Given the description of an element on the screen output the (x, y) to click on. 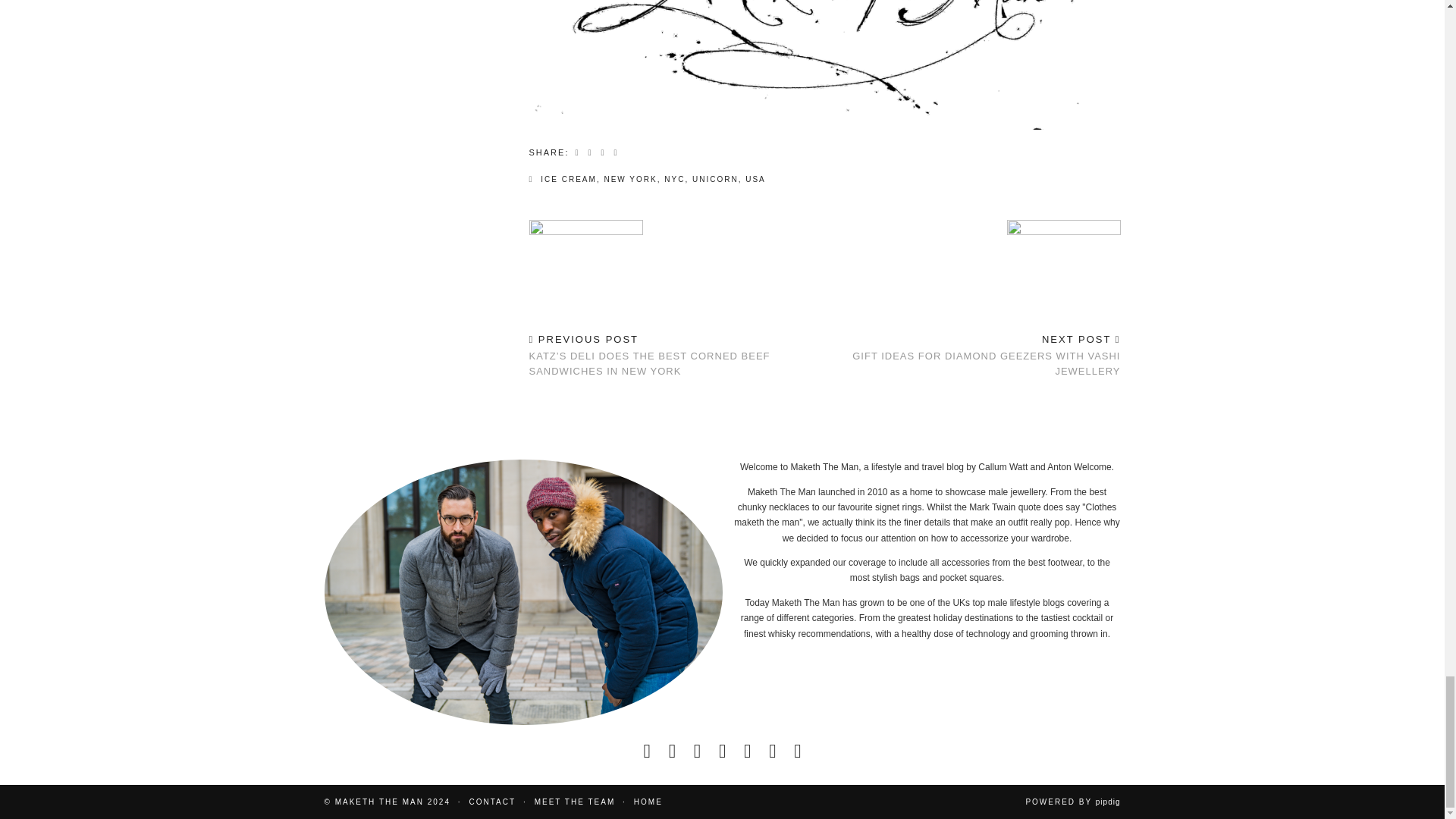
NEW YORK (630, 179)
NYC (673, 179)
USA (755, 179)
ICE CREAM (568, 179)
UNICORN (715, 179)
